Given the description of an element on the screen output the (x, y) to click on. 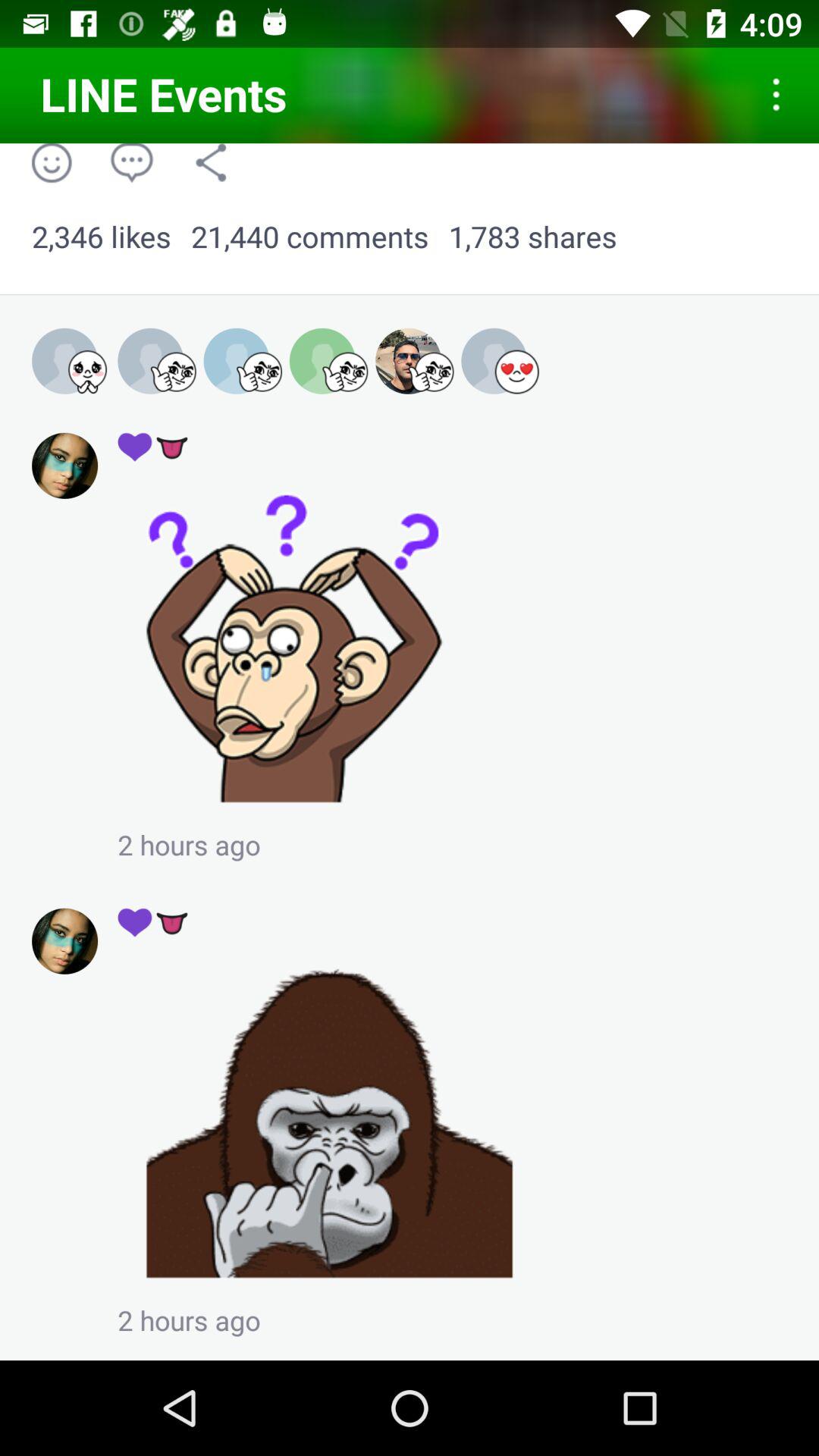
enlarge picture (329, 1122)
